Given the description of an element on the screen output the (x, y) to click on. 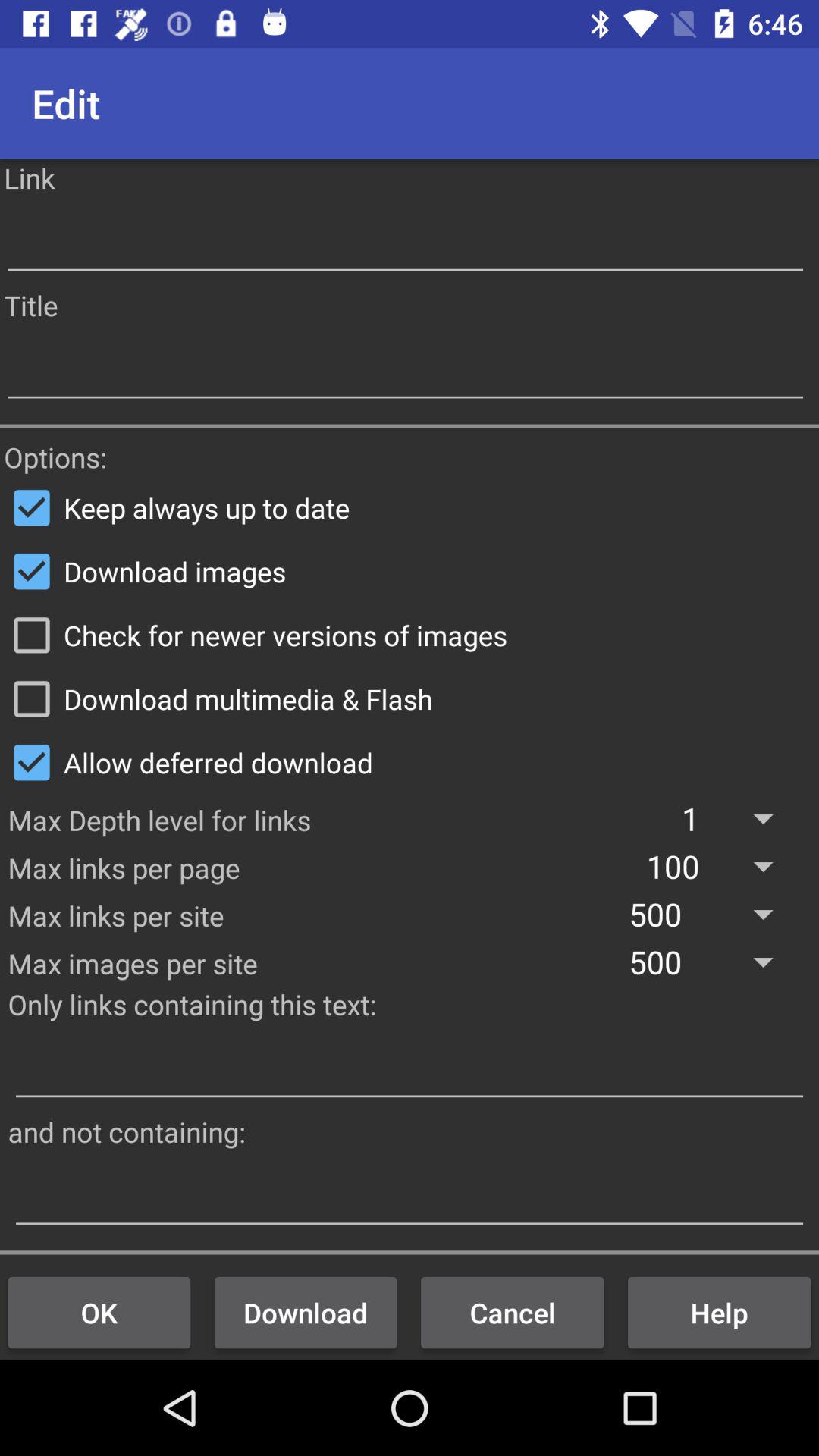
launch help button (719, 1312)
